Given the description of an element on the screen output the (x, y) to click on. 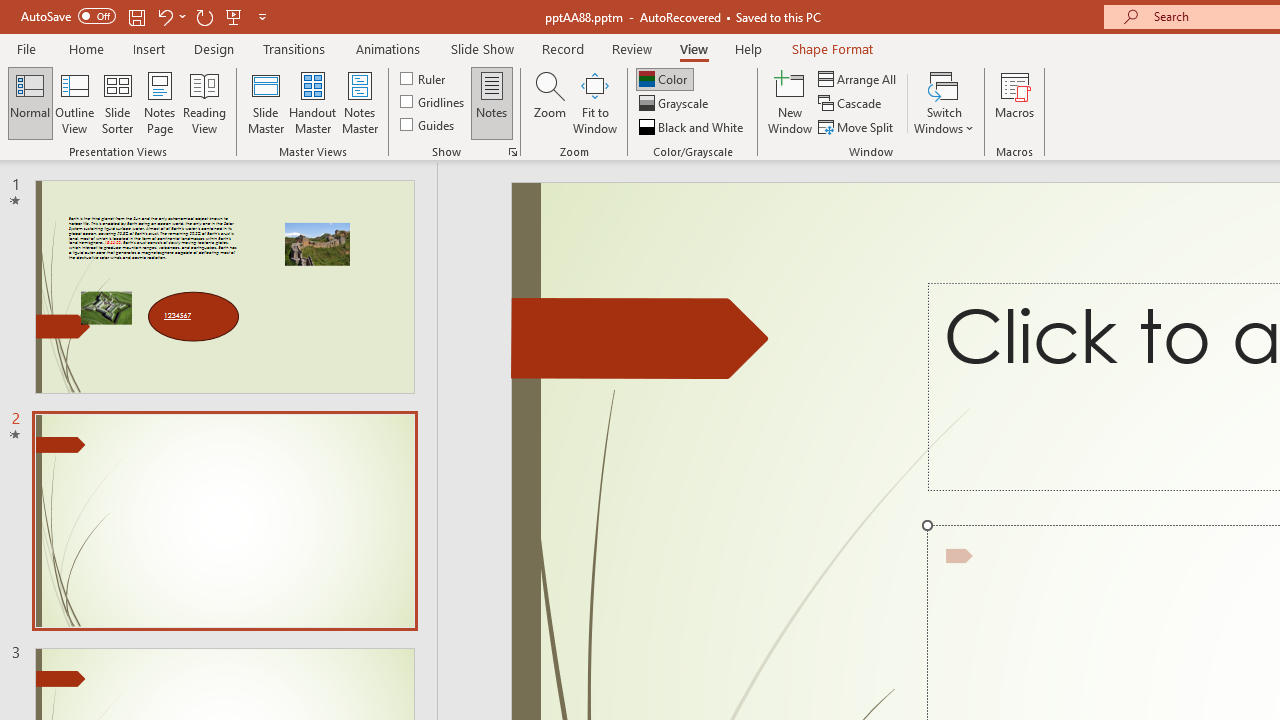
Black and White (693, 126)
Outline View (74, 102)
Grid Settings... (512, 151)
Guides (428, 124)
